Given the description of an element on the screen output the (x, y) to click on. 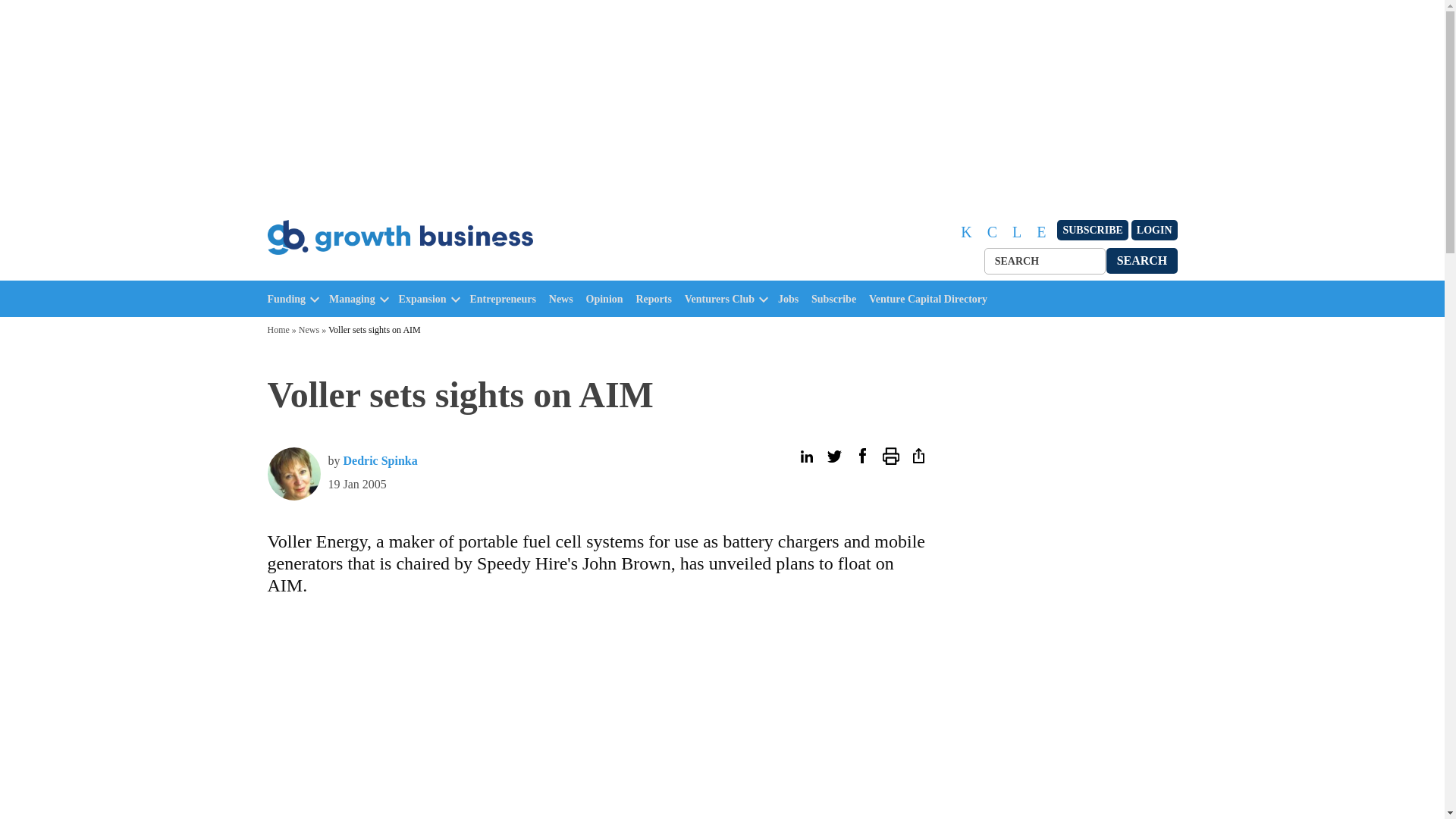
Share on LinkedIn (805, 456)
Print this article (890, 456)
SEARCH (1142, 260)
Managing (352, 298)
Tweet this article (835, 456)
Entrepreneurs (506, 298)
Share on Facebook (861, 456)
SUBSCRIBE (1091, 230)
Expansion (422, 298)
Opinion (608, 298)
LOGIN (1154, 230)
Funding (285, 298)
News (564, 298)
Reports (656, 298)
